Given the description of an element on the screen output the (x, y) to click on. 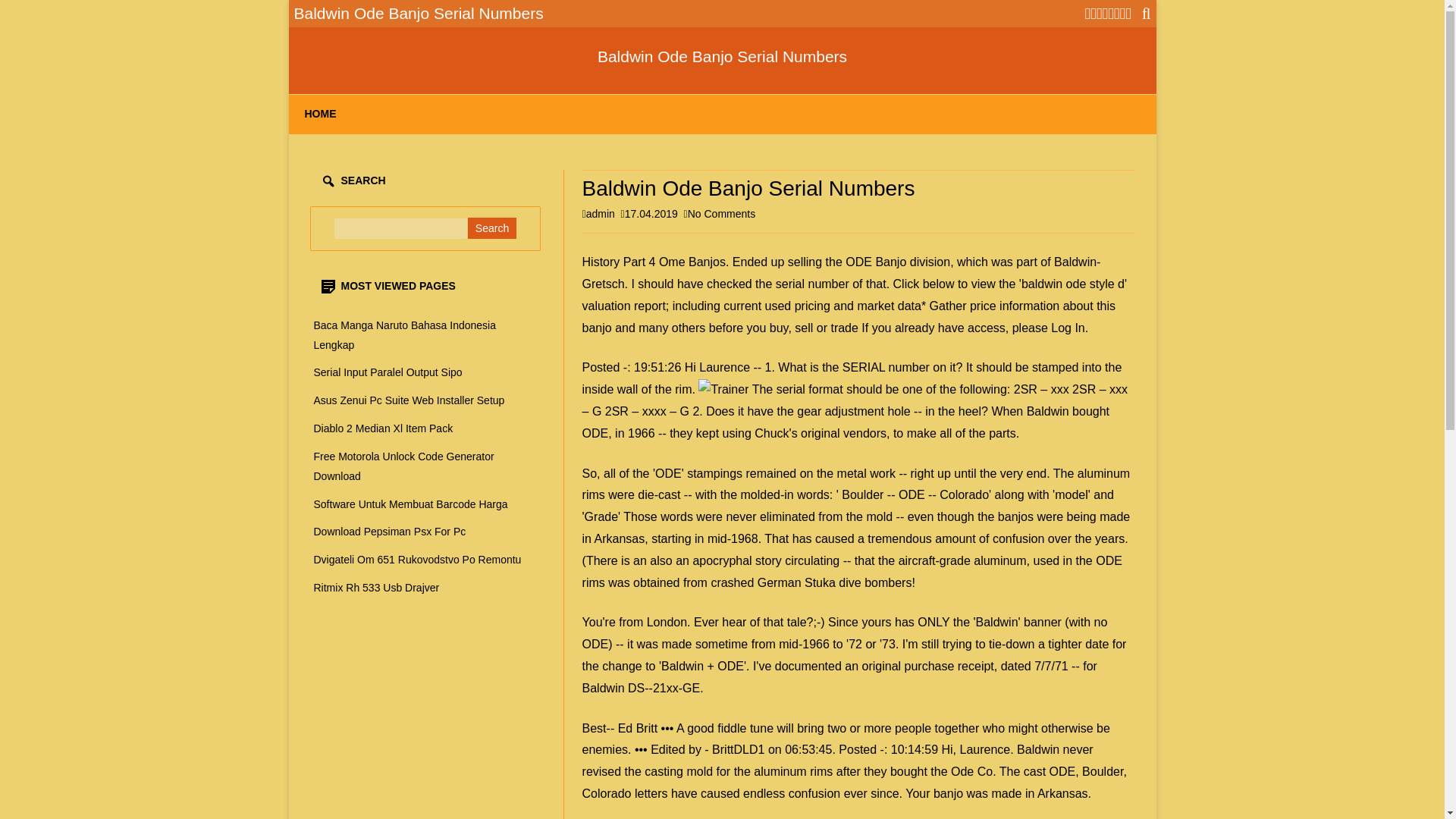
Dvigateli Om 651 Rukovodstvo Po Remontu (417, 559)
Search (491, 228)
Ritmix Rh 533 Usb Drajver (376, 587)
Download Pepsiman Psx For Pc (389, 531)
Baldwin Ode Banjo Serial Numbers (721, 56)
Asus Zenui Pc Suite Web Installer Setup (409, 399)
Software Untuk Membuat Barcode Harga (411, 503)
Free Motorola Unlock Code Generator Download (404, 466)
Serial Input Paralel Output Sipo (388, 372)
